Given the description of an element on the screen output the (x, y) to click on. 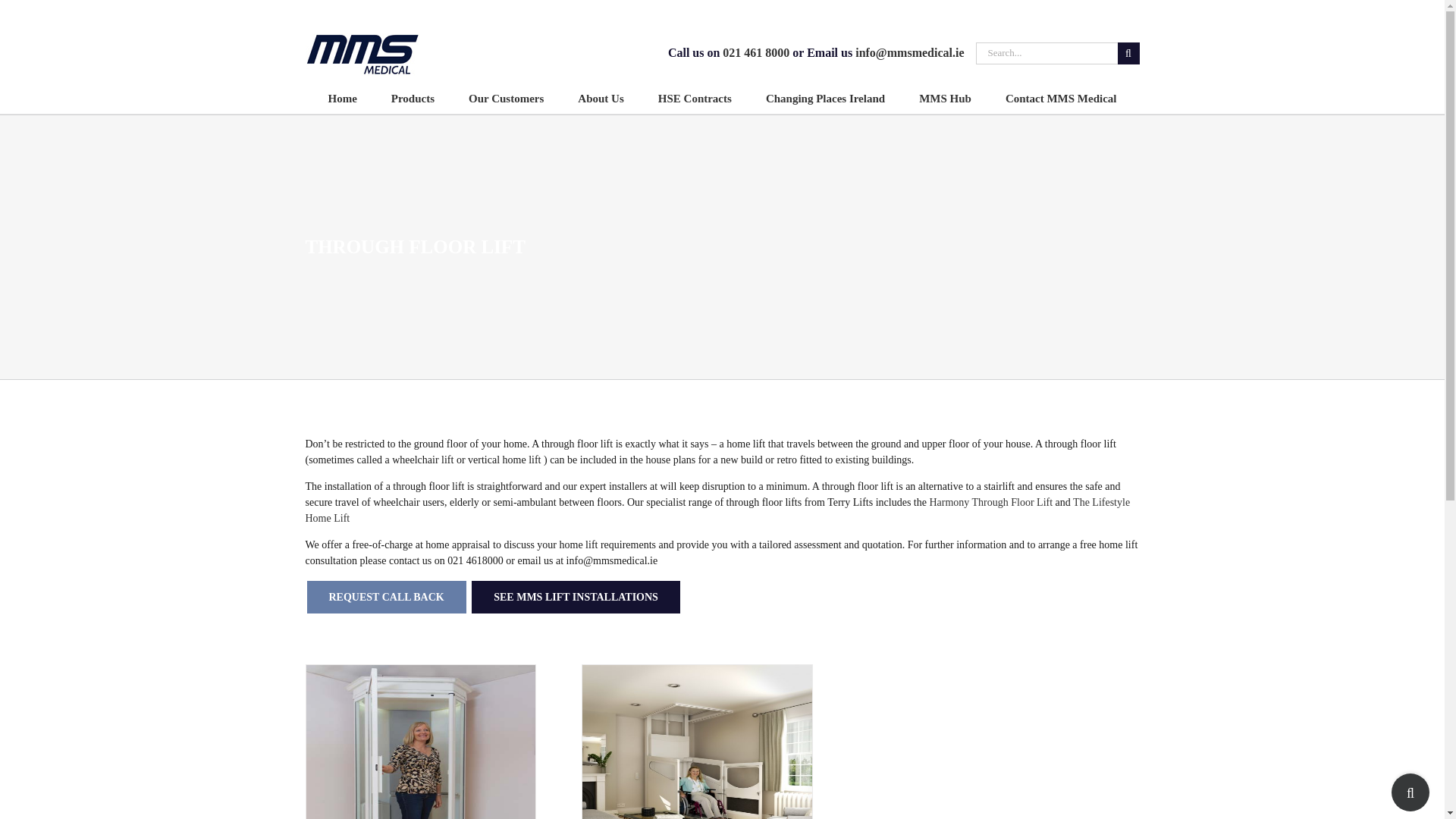
Home (341, 98)
Products (412, 98)
021 461 8000 (755, 51)
